Given the description of an element on the screen output the (x, y) to click on. 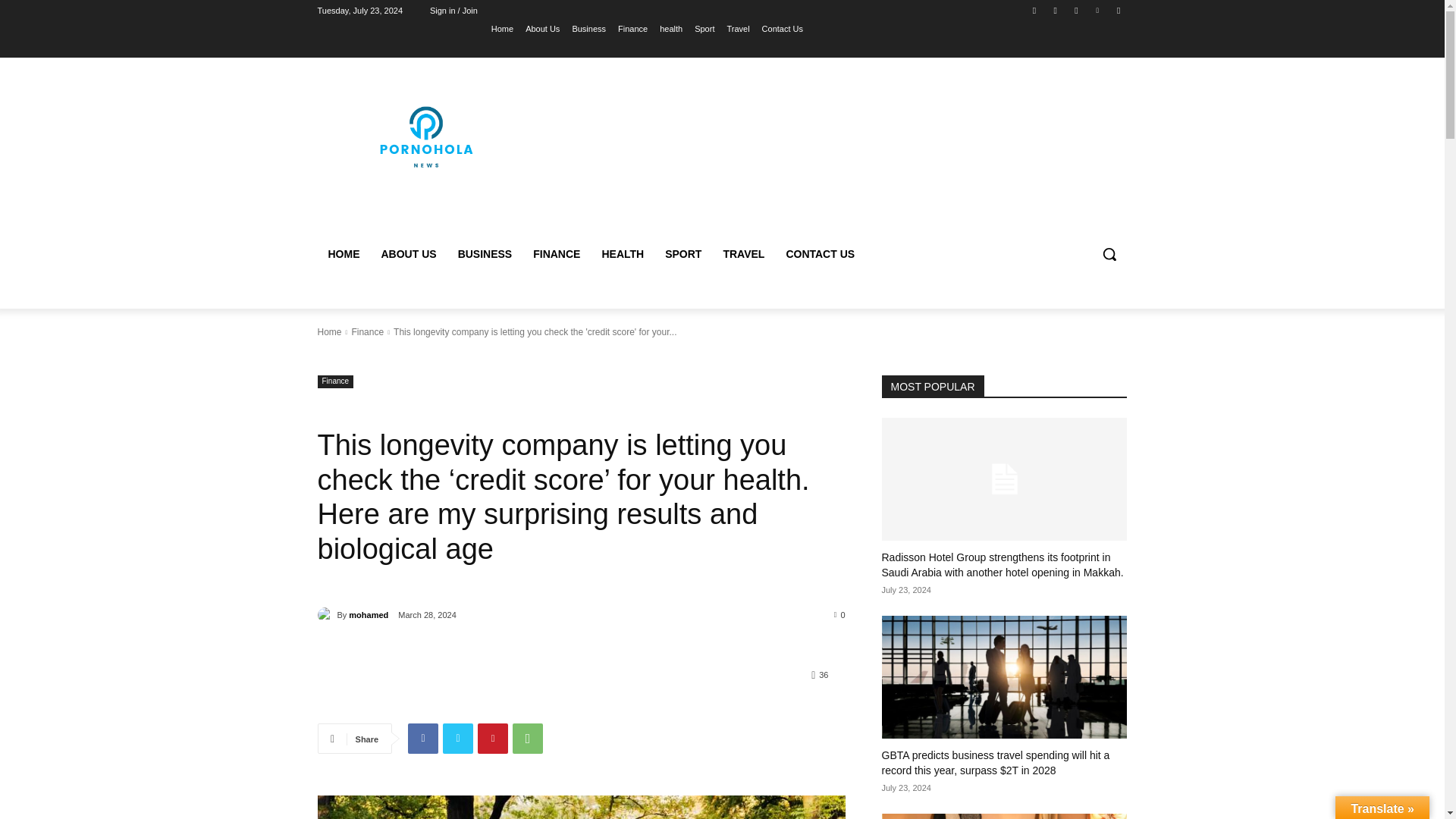
SPORT (682, 253)
TRAVEL (742, 253)
BUSINESS (484, 253)
Twitter (1075, 9)
Sport (704, 28)
Facebook (1034, 9)
HOME (343, 253)
Facebook (422, 738)
Vimeo (1097, 9)
About Us (542, 28)
Business (588, 28)
Home (502, 28)
Finance (632, 28)
Twitter (457, 738)
mohamed (326, 614)
